Given the description of an element on the screen output the (x, y) to click on. 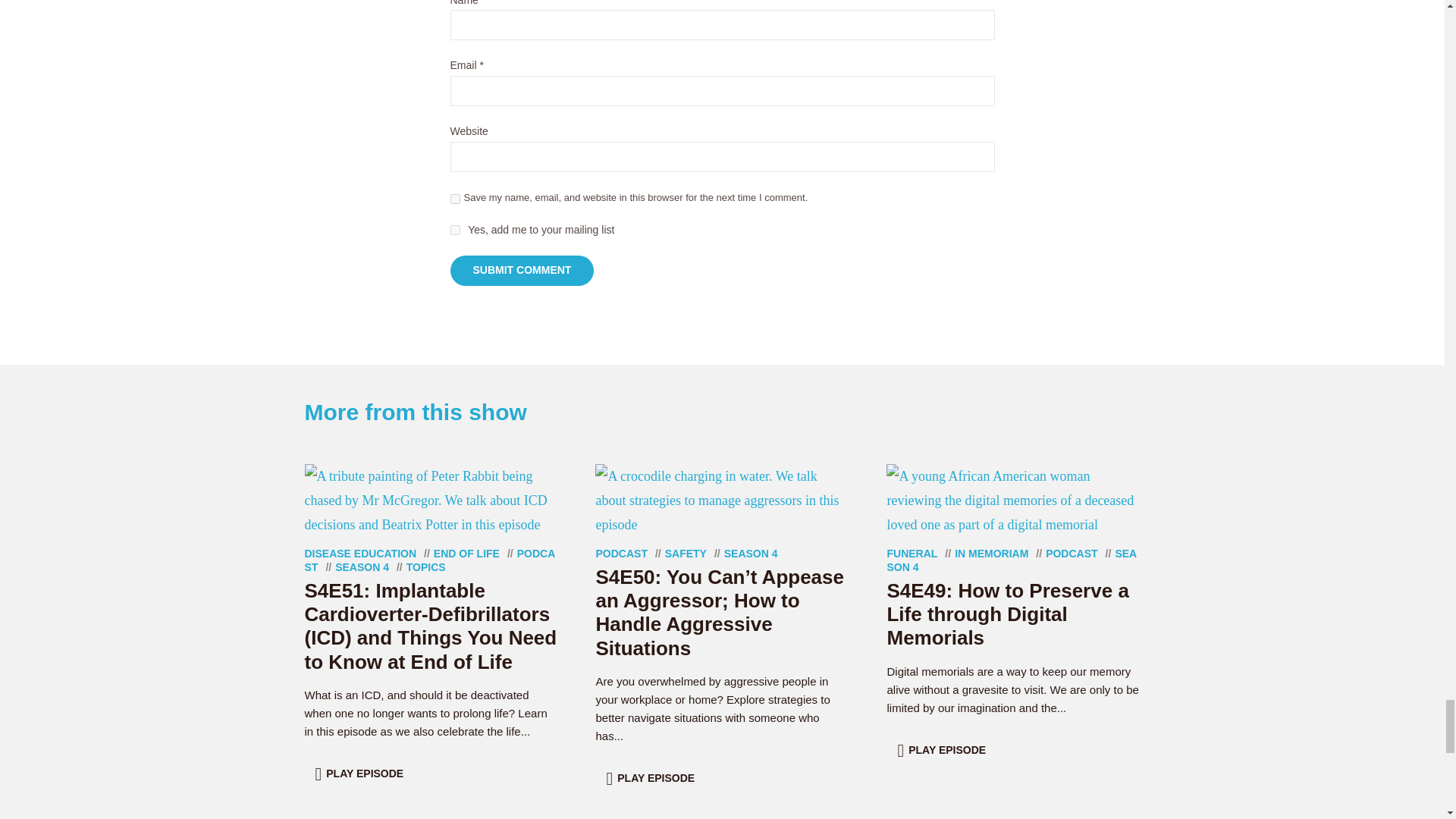
1 (454, 230)
Submit Comment (521, 270)
